Given the description of an element on the screen output the (x, y) to click on. 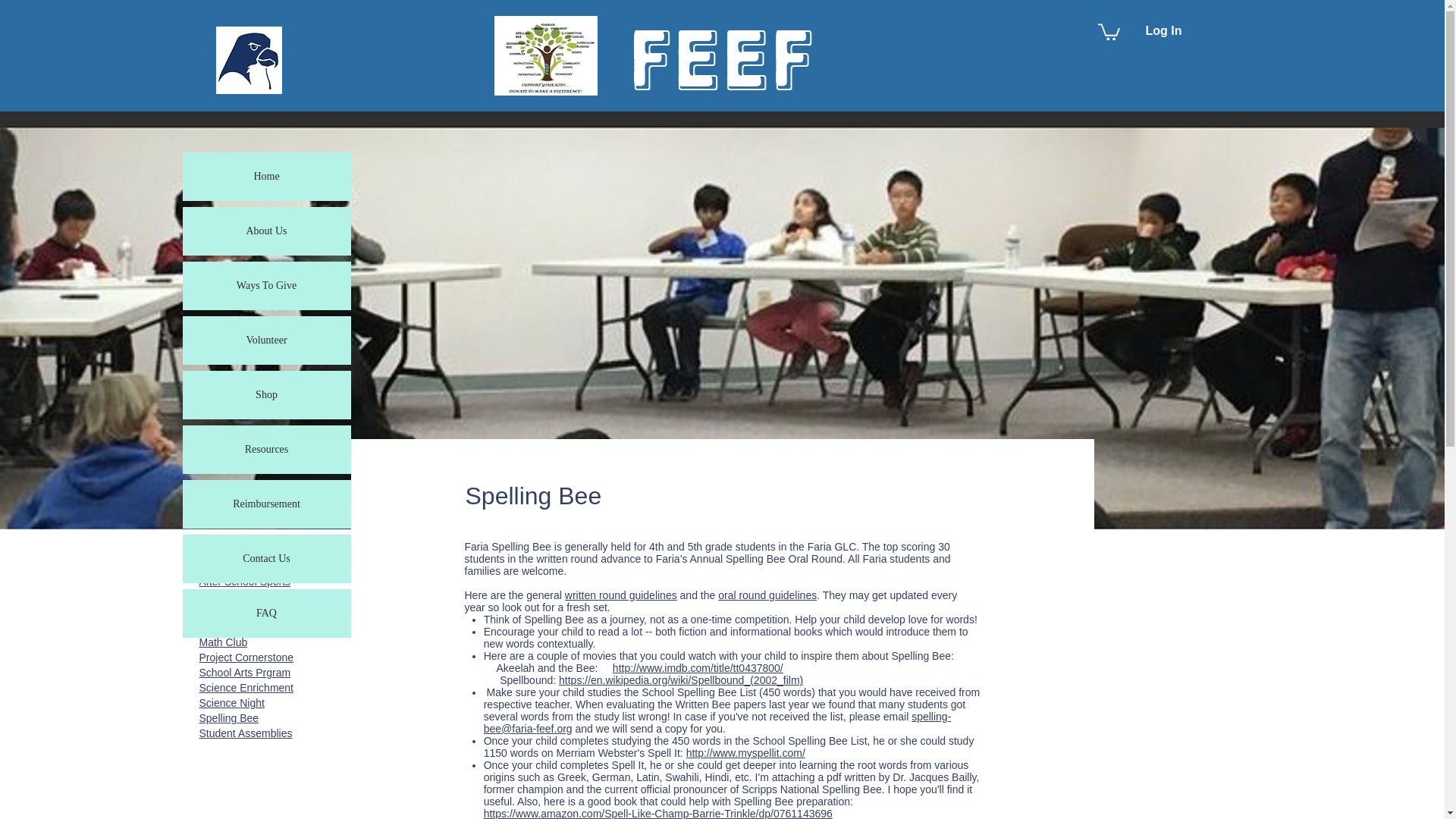
Gardening Club (235, 596)
School Arts Prgram (243, 672)
oral round guidelines (766, 594)
After School Sports (243, 581)
written round guidelines (620, 594)
Jogging Program (238, 626)
Project Cornerstone (246, 657)
About Us (266, 231)
Home (266, 176)
Student Assemblies (245, 733)
